Given the description of an element on the screen output the (x, y) to click on. 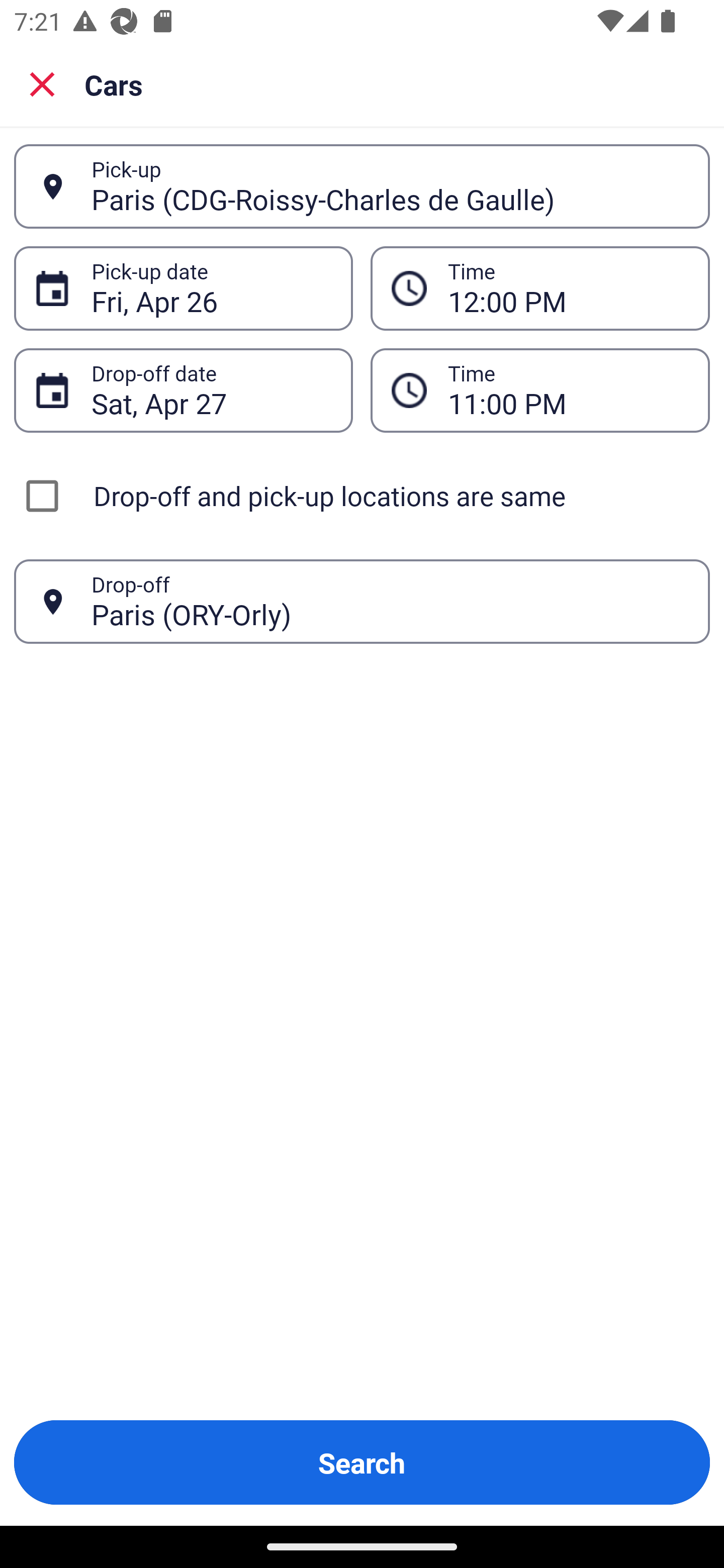
Close search screen (41, 83)
Paris (CDG-Roissy-Charles de Gaulle) Pick-up (361, 186)
Paris (CDG-Roissy-Charles de Gaulle) (389, 186)
Fri, Apr 26 Pick-up date (183, 288)
12:00 PM (540, 288)
Fri, Apr 26 (211, 288)
12:00 PM (568, 288)
Sat, Apr 27 Drop-off date (183, 390)
11:00 PM (540, 390)
Sat, Apr 27 (211, 390)
11:00 PM (568, 390)
Drop-off and pick-up locations are same (361, 495)
Paris (ORY-Orly) Drop-off (361, 601)
Paris (ORY-Orly) (389, 601)
Search Button Search (361, 1462)
